Given the description of an element on the screen output the (x, y) to click on. 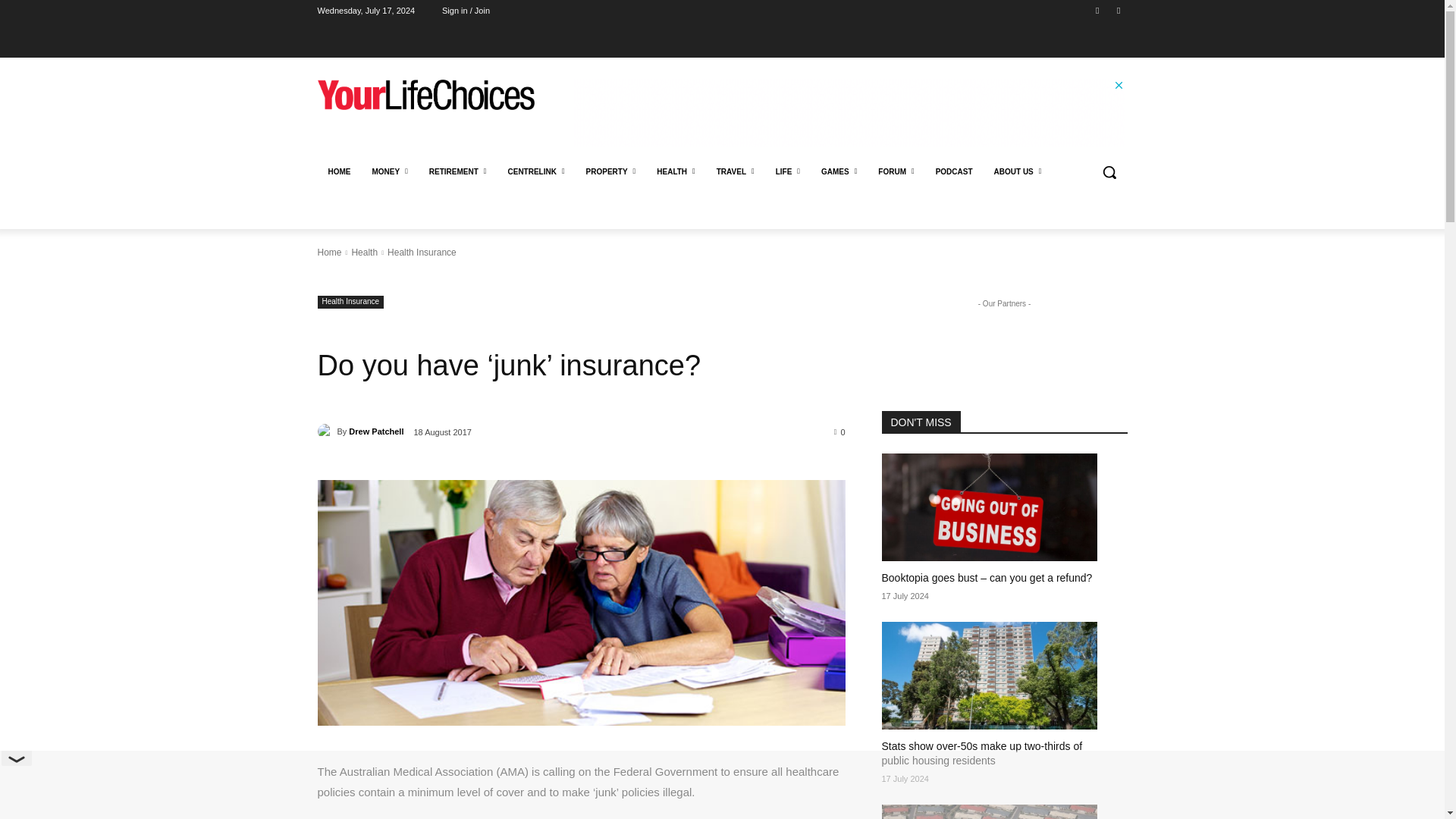
View all posts in Health (363, 252)
Facebook (1097, 9)
Drew Patchell (326, 431)
3rd party ad content (849, 112)
Twitter (1117, 9)
View all posts in Health Insurance (422, 252)
